Given the description of an element on the screen output the (x, y) to click on. 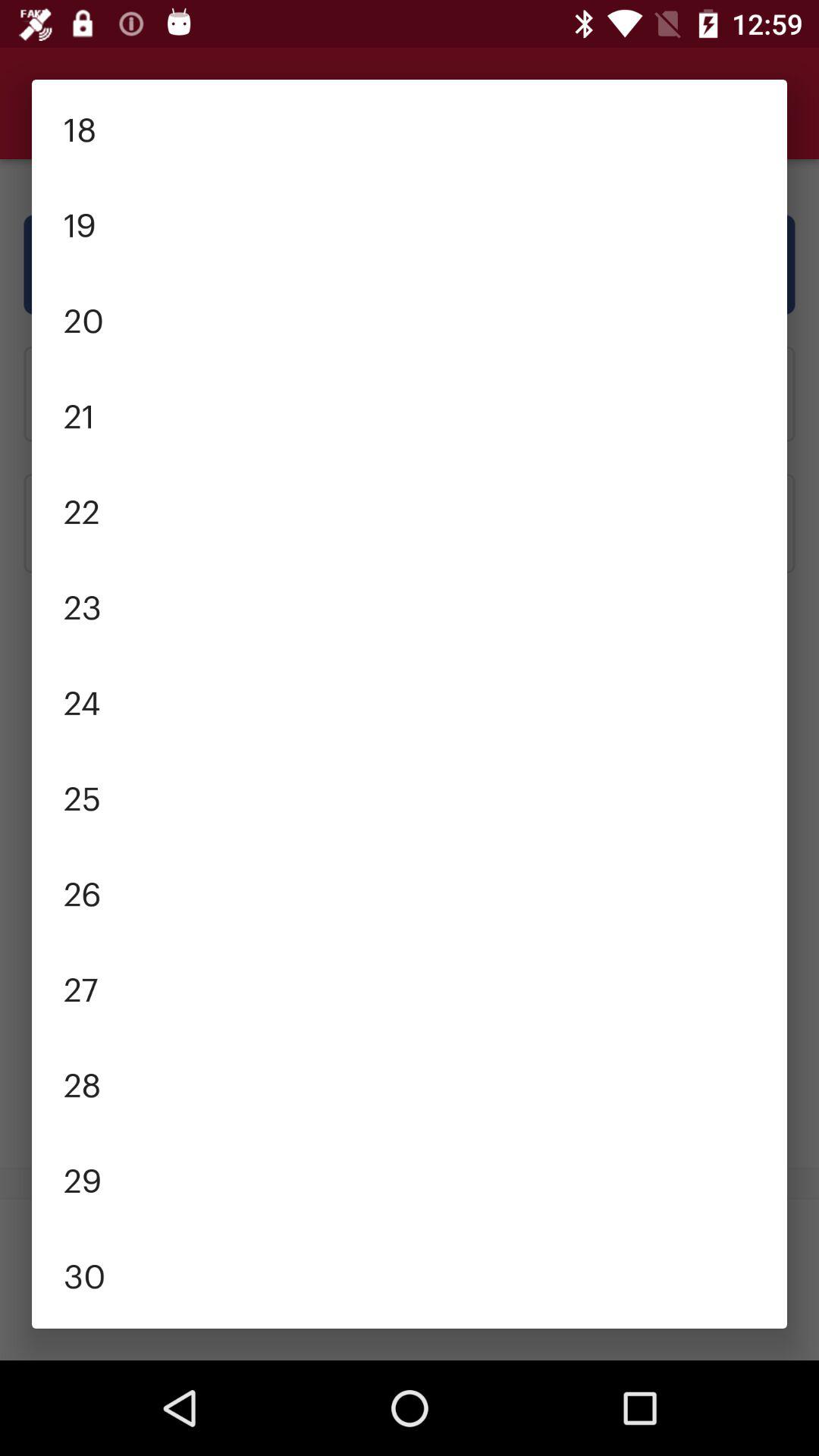
flip to the 30 item (409, 1273)
